Given the description of an element on the screen output the (x, y) to click on. 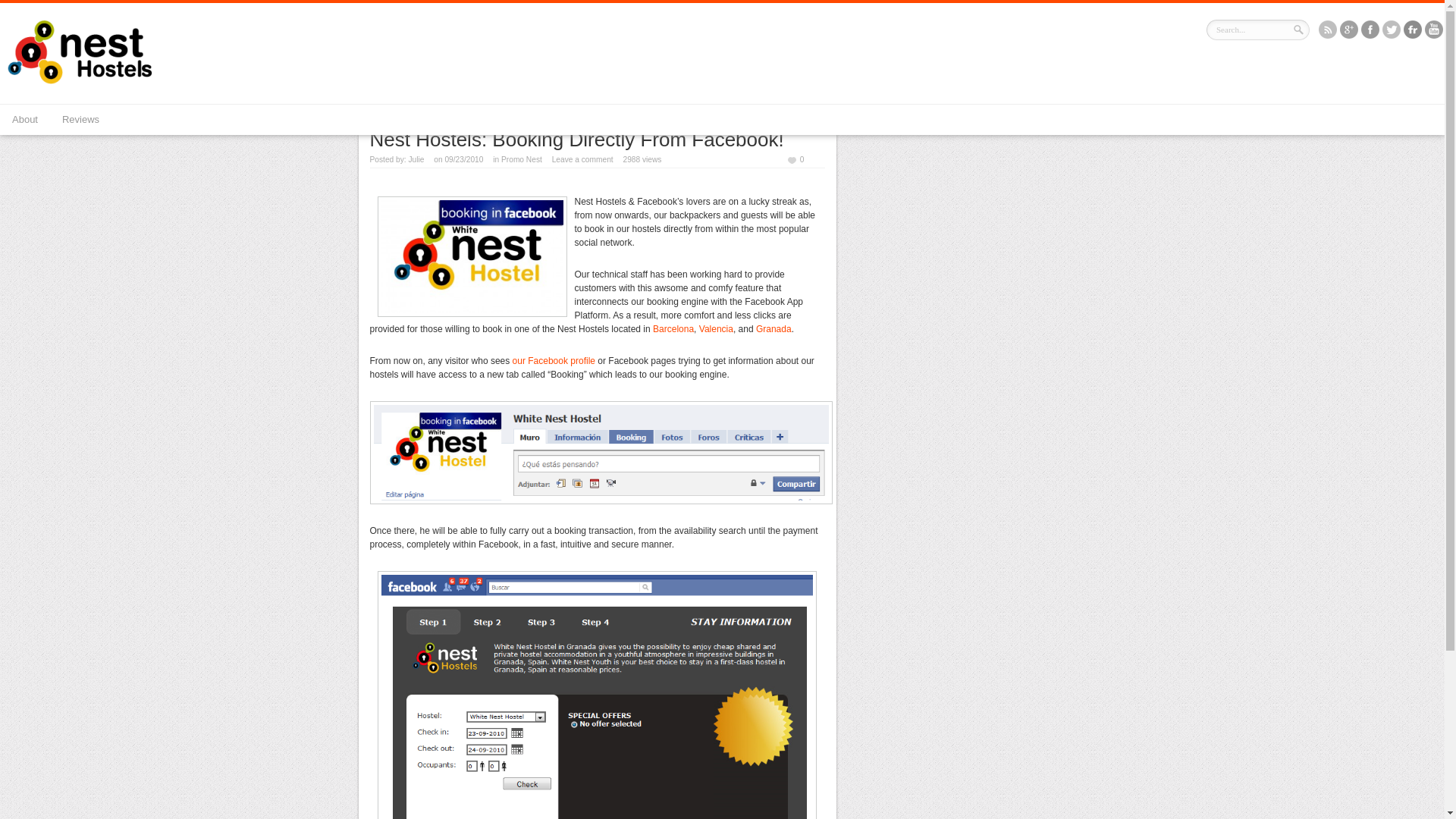
whitebooking (596, 694)
Granada Nest Hostel's site (773, 328)
Valencia (715, 328)
Valencia Nest Hostels' site (715, 328)
0 (795, 159)
Promo Nest (520, 159)
Promo Nest (470, 95)
Julie (415, 159)
Facebook (1369, 30)
Barcelona Nest Hostels' site (673, 328)
Leave a comment (581, 159)
Home (426, 95)
About (24, 119)
Barcelona (673, 328)
whitescreen (600, 452)
